Given the description of an element on the screen output the (x, y) to click on. 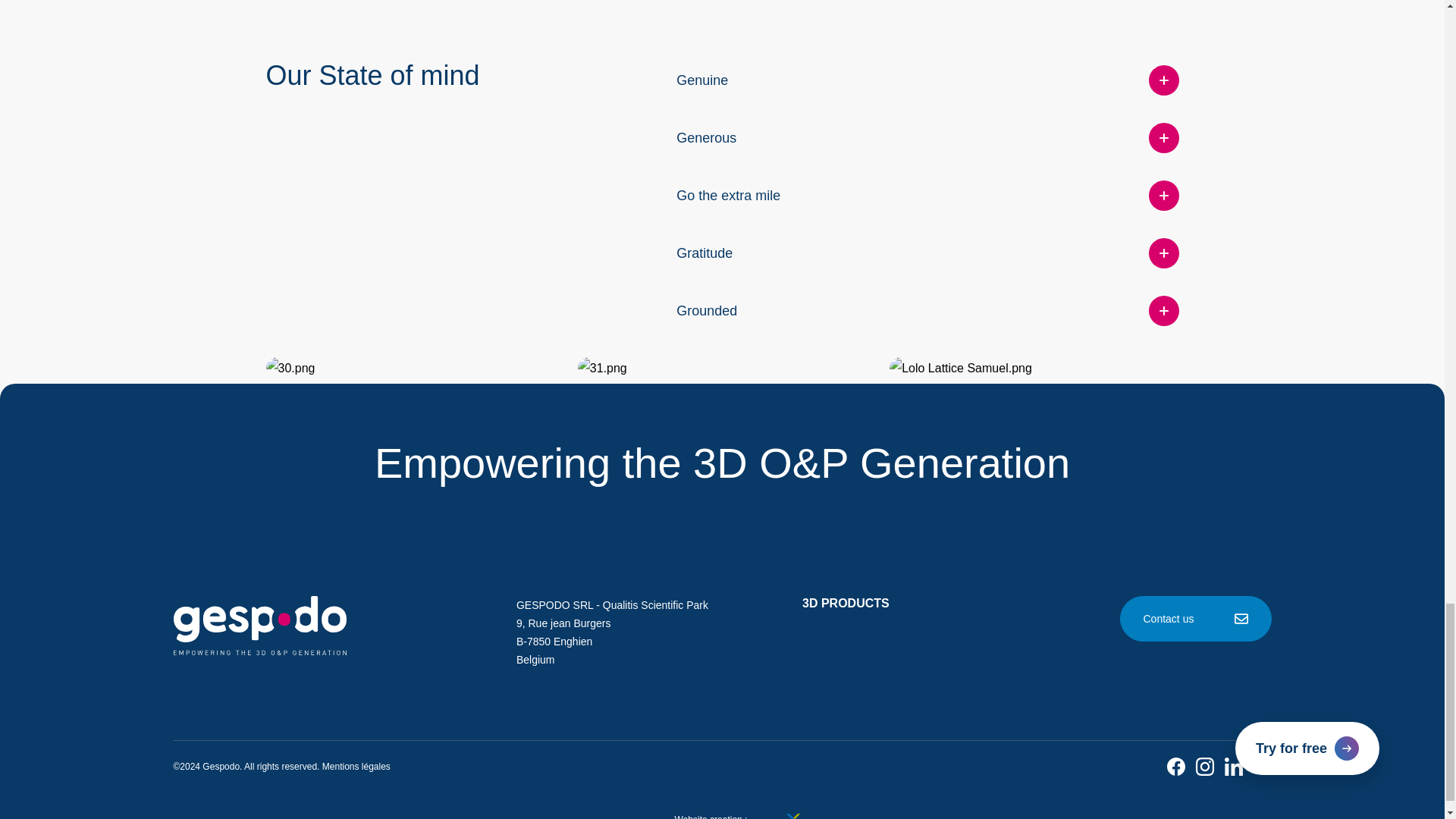
Genuine (927, 80)
Generous (927, 137)
Grounded (927, 310)
Contact us (1195, 618)
Website creation : (722, 814)
Go the extra mile (927, 195)
Gratitude (927, 253)
